Given the description of an element on the screen output the (x, y) to click on. 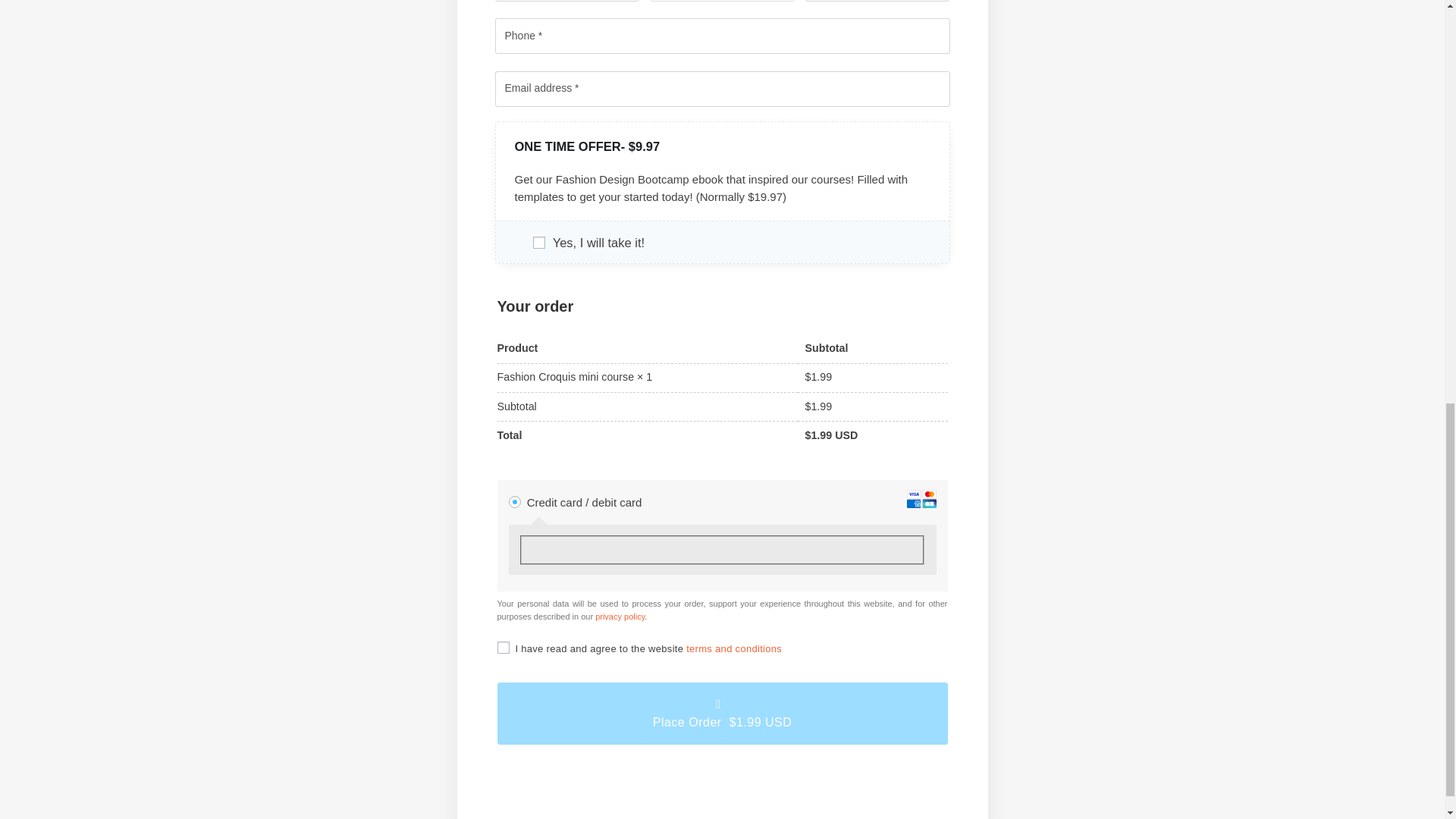
b7f (538, 242)
privacy policy (620, 615)
terms and conditions (733, 648)
on (503, 647)
